Given the description of an element on the screen output the (x, y) to click on. 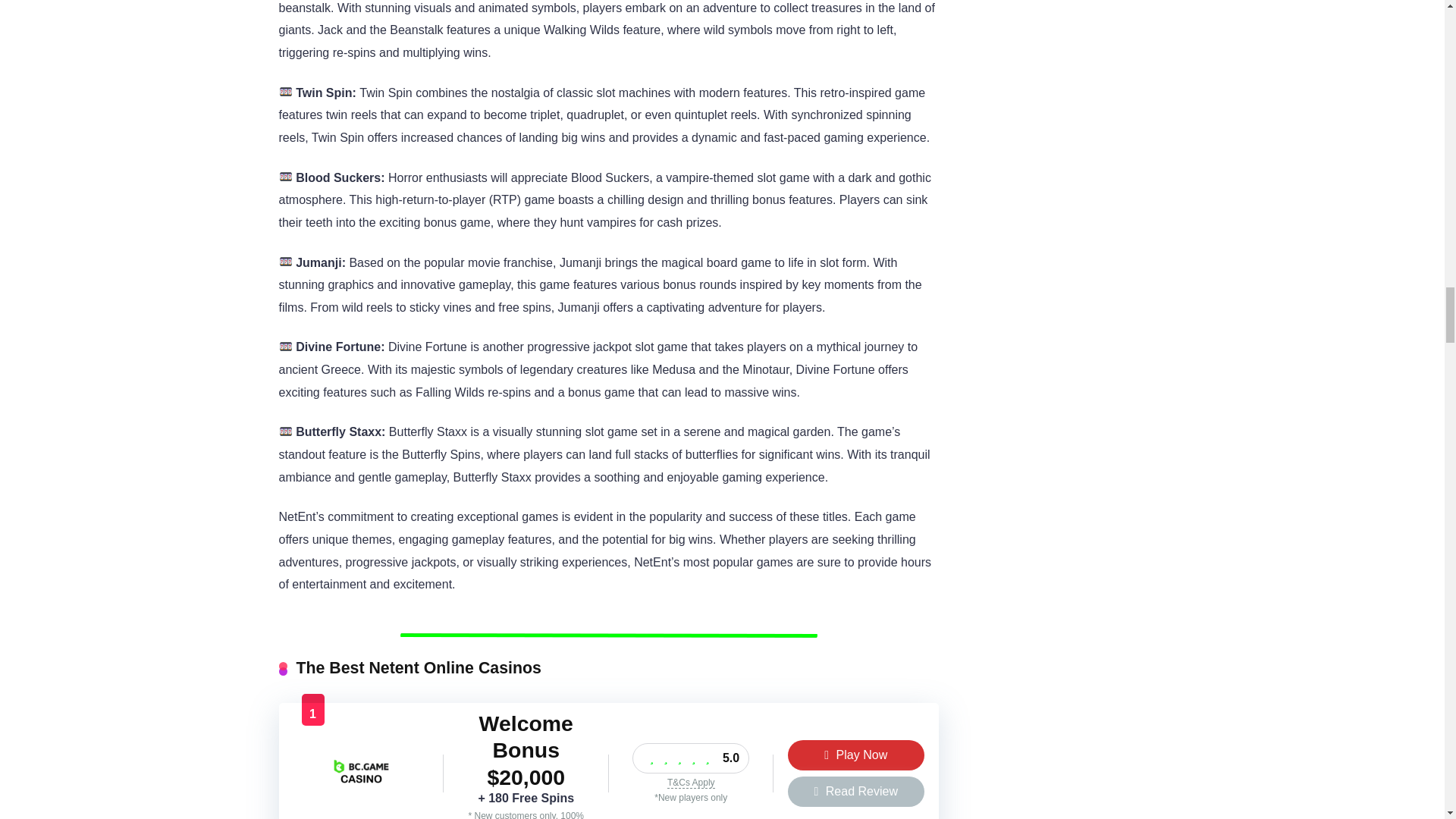
Play Now (855, 755)
Read Review (855, 791)
BC Game Casino Review (361, 799)
